Given the description of an element on the screen output the (x, y) to click on. 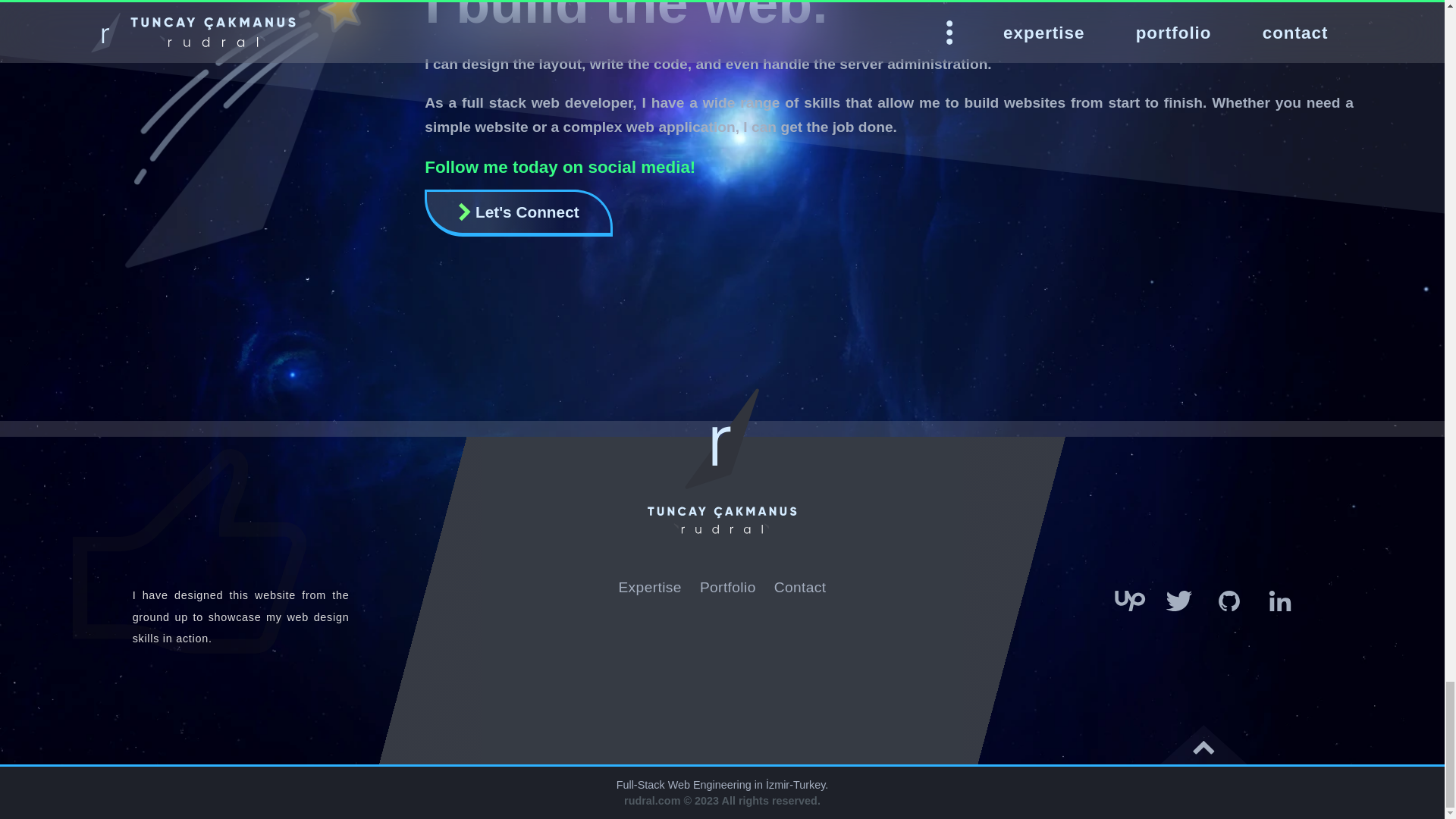
Portfolio (727, 587)
Contact (800, 587)
Contact (800, 587)
Expertise (649, 587)
rudral.com (651, 800)
Contact (518, 212)
Expertise (649, 587)
Let's Connect (518, 212)
Portfolio (727, 587)
